Given the description of an element on the screen output the (x, y) to click on. 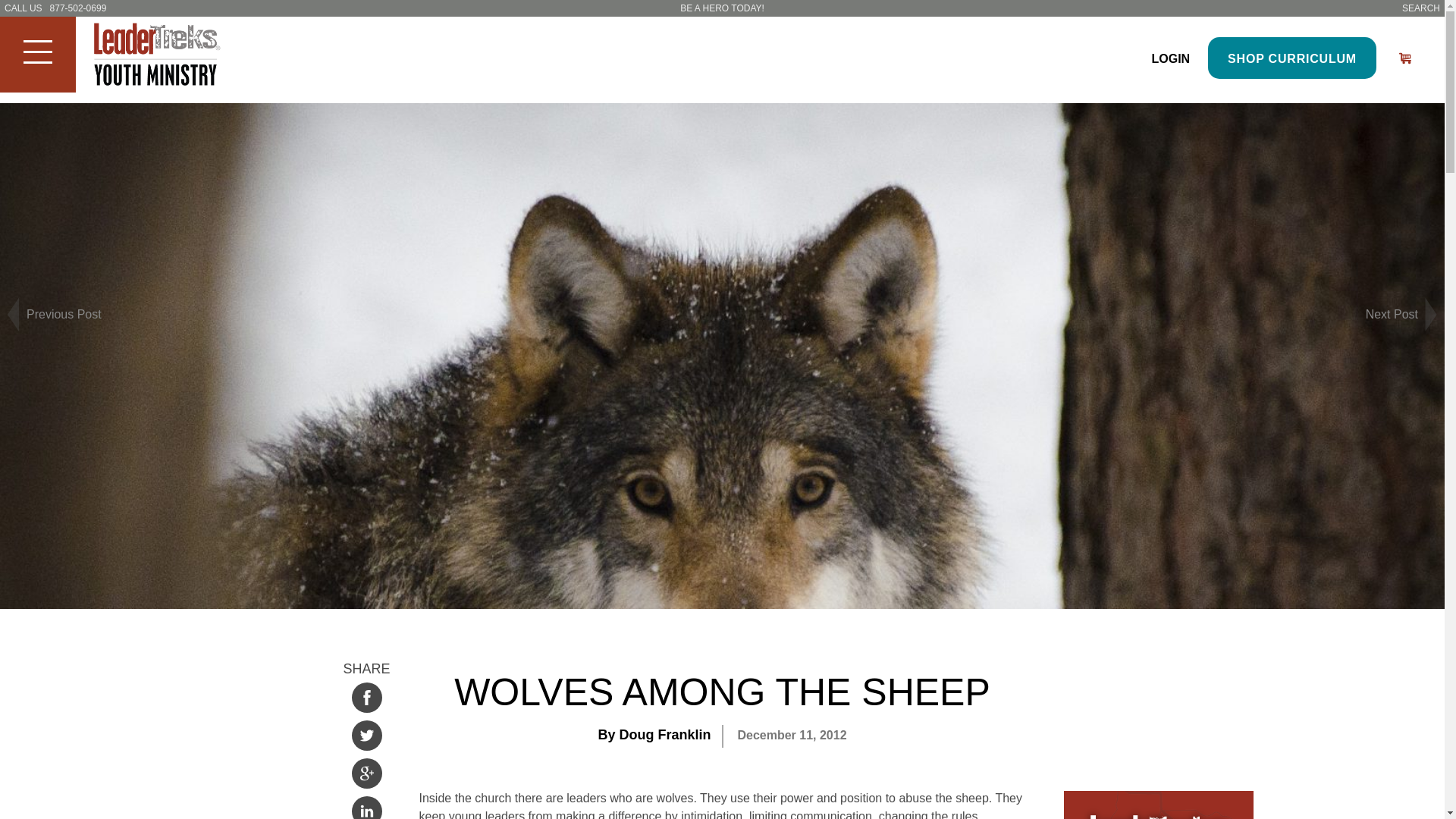
Previous Post (63, 314)
LOGIN (1170, 58)
BE A HERO TODAY! (721, 8)
Next Post (1380, 314)
SHOP CURRICULUM (1291, 57)
LEADERTREKS YOUTH MINISTRY (168, 56)
SEARCH (1420, 8)
877-502-0699 (77, 8)
Doug Franklin (664, 734)
